Given the description of an element on the screen output the (x, y) to click on. 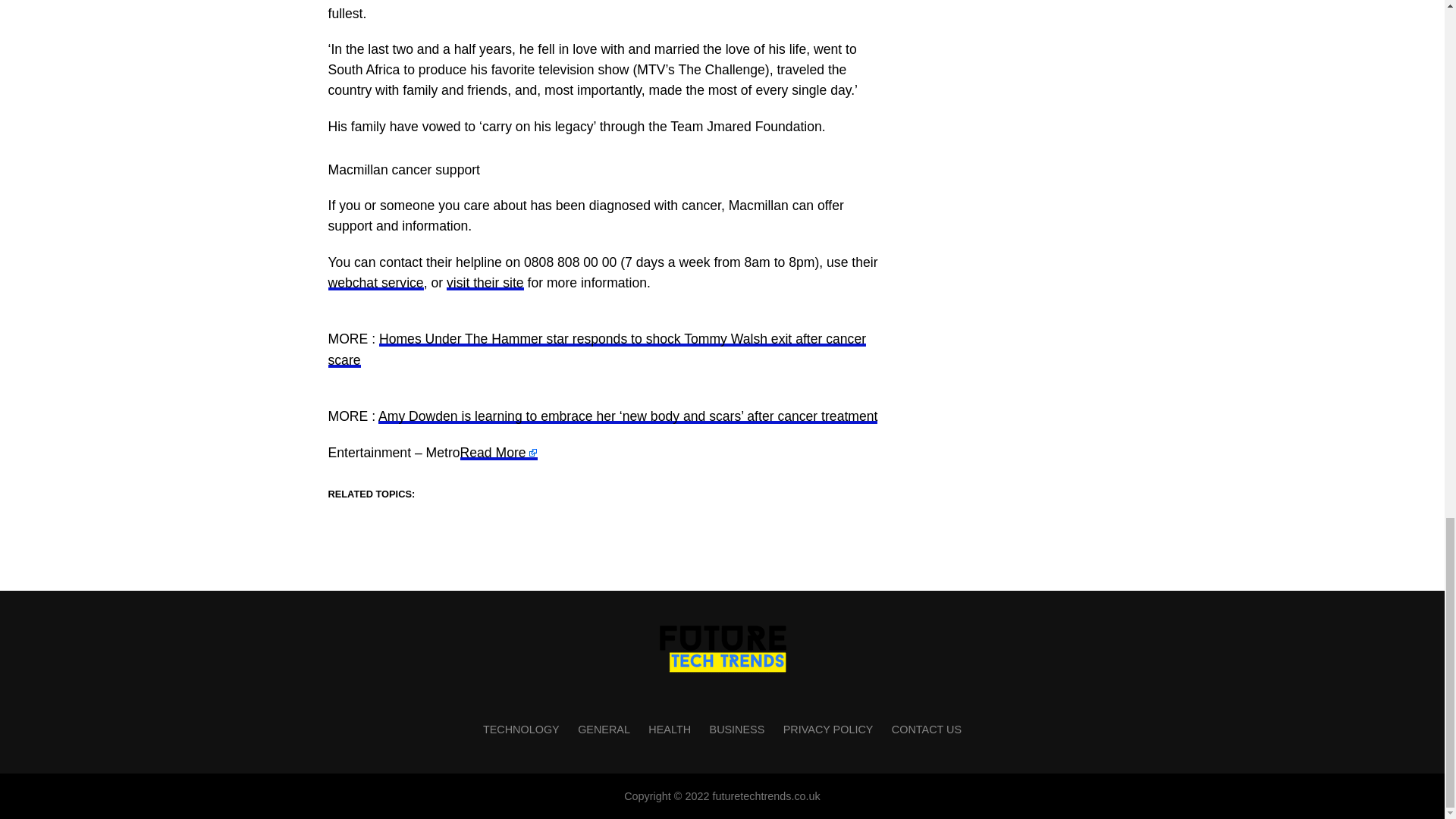
GENERAL (604, 729)
HEALTH (668, 729)
BUSINESS (737, 729)
visit their site (485, 282)
CONTACT US (925, 729)
PRIVACY POLICY (828, 729)
TECHNOLOGY (521, 729)
webchat service (375, 282)
Read More (498, 451)
